Given the description of an element on the screen output the (x, y) to click on. 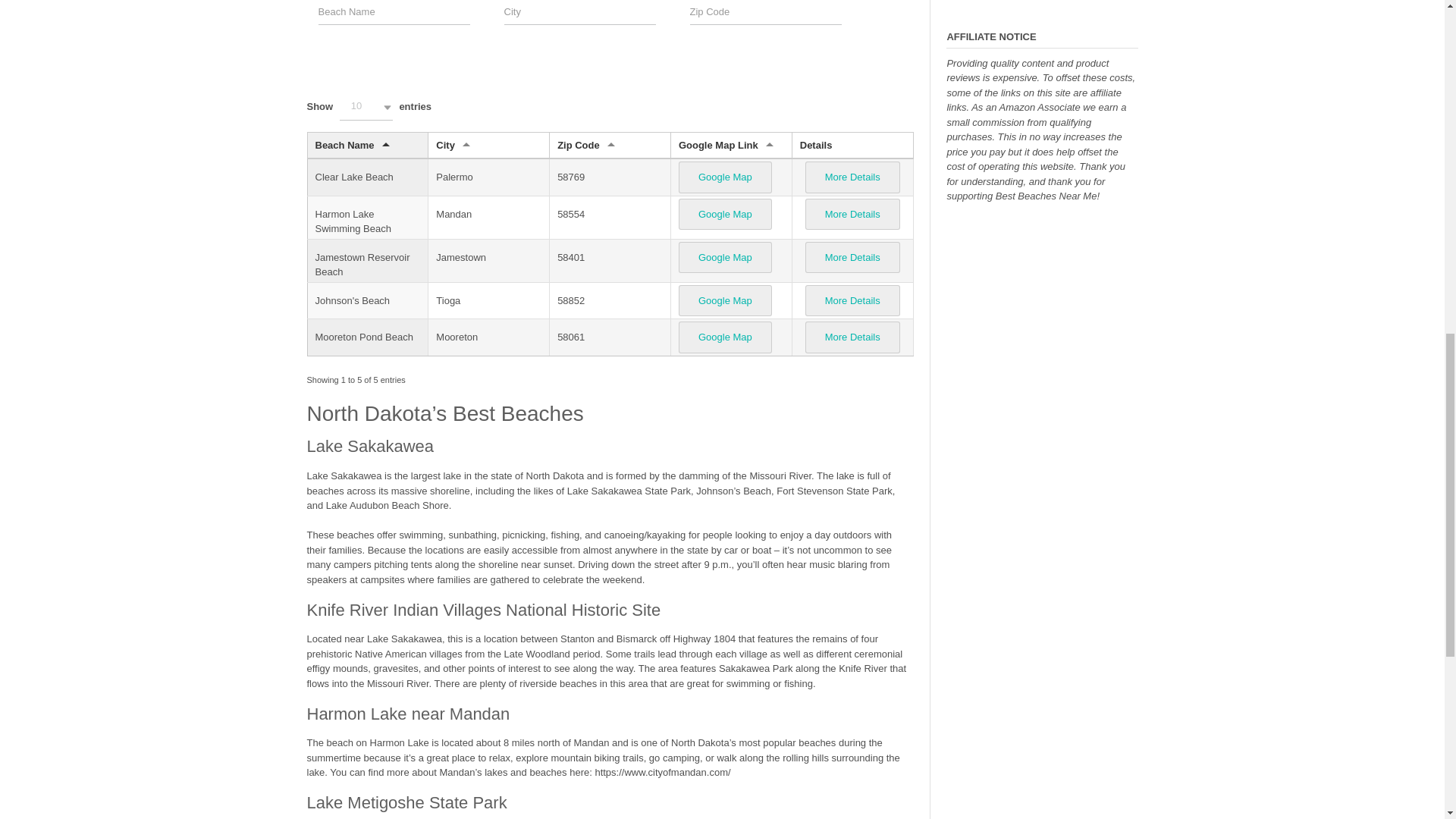
10 (366, 107)
